Given the description of an element on the screen output the (x, y) to click on. 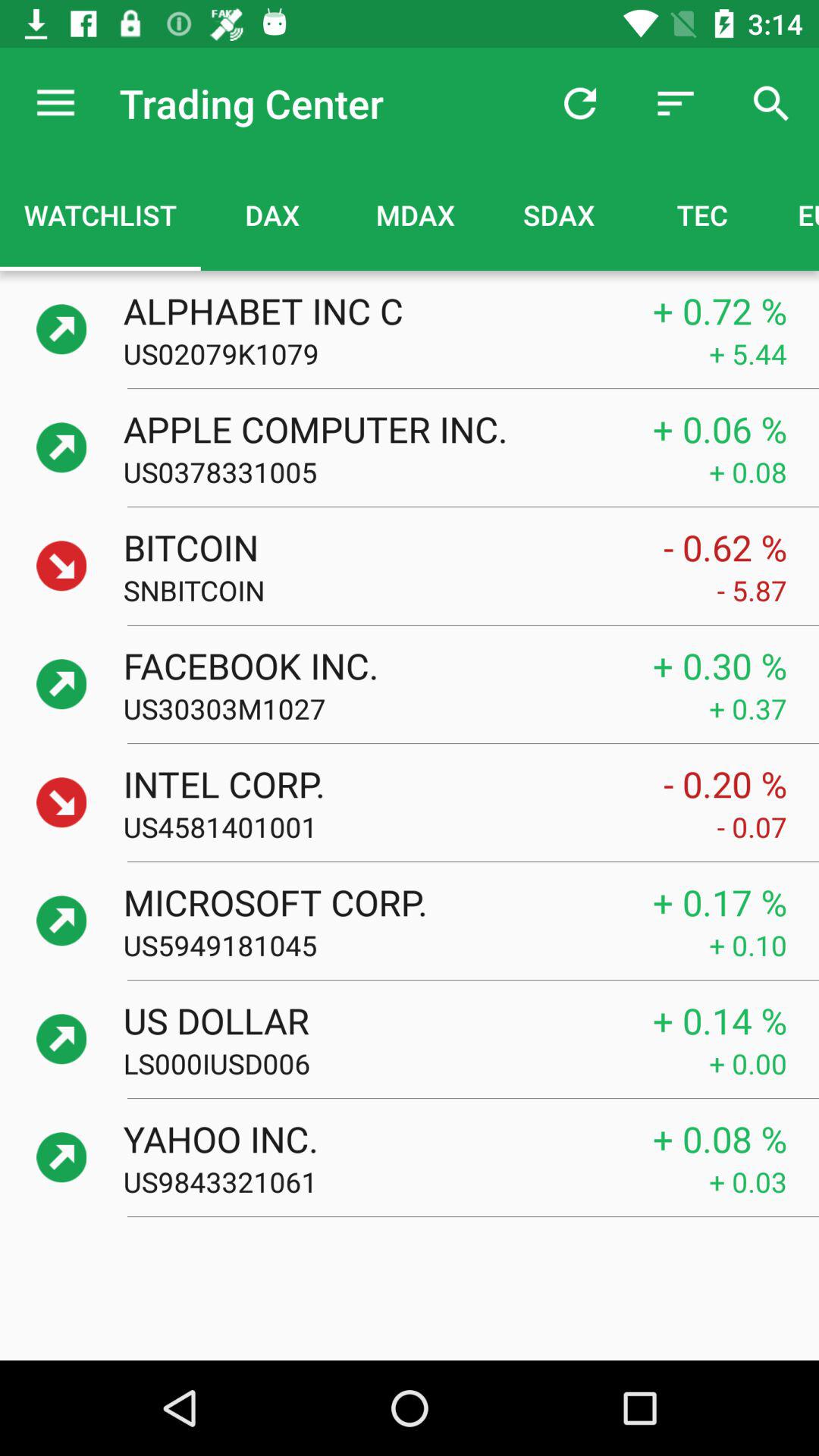
turn on item above the sdax (579, 103)
